Given the description of an element on the screen output the (x, y) to click on. 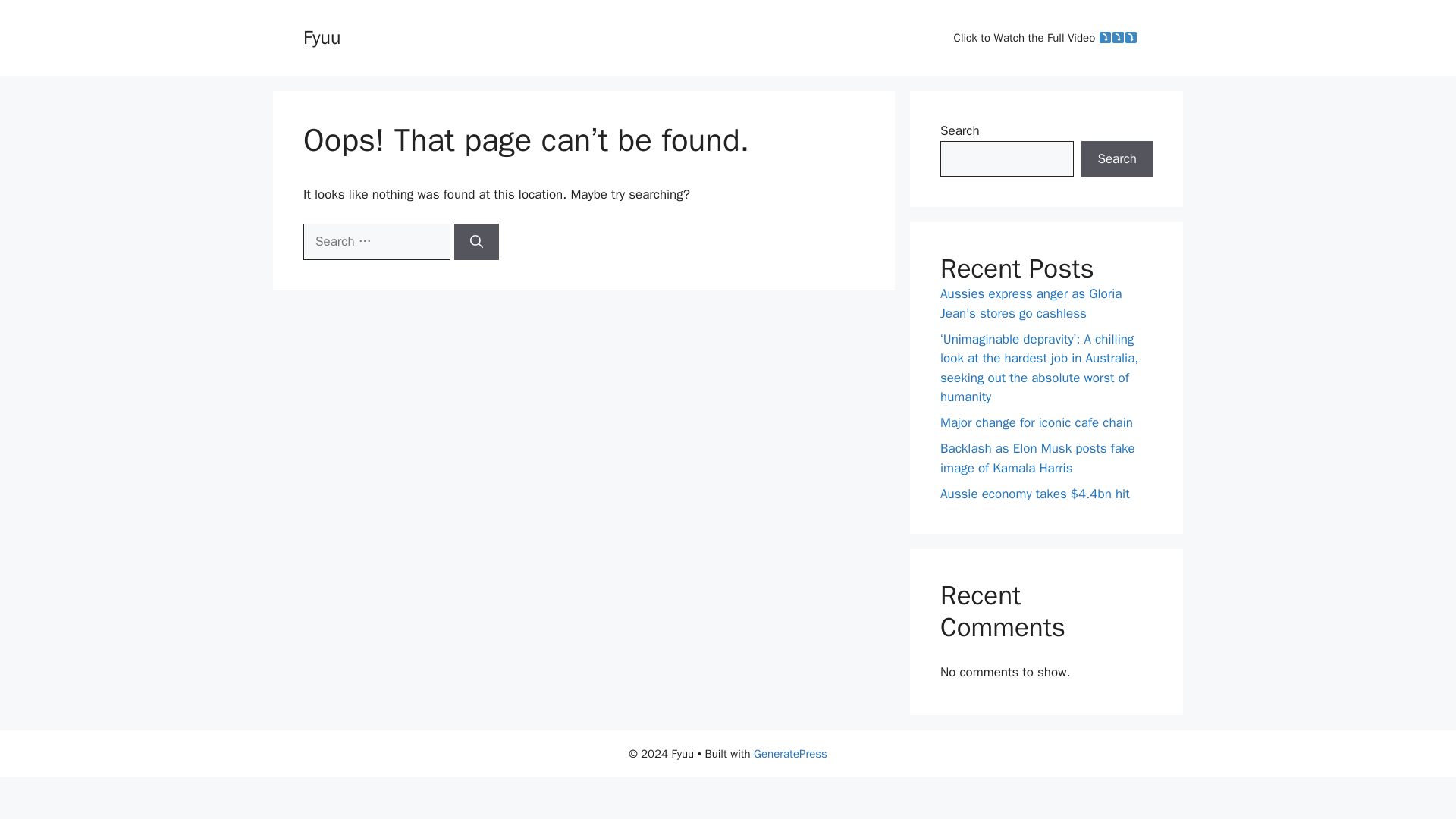
Backlash as Elon Musk posts fake image of Kamala Harris (1037, 457)
GeneratePress (790, 753)
Fyuu (321, 37)
Search (1117, 158)
Search for: (375, 241)
Click to Watch the Full Video (1046, 37)
Major change for iconic cafe chain (1036, 422)
